Given the description of an element on the screen output the (x, y) to click on. 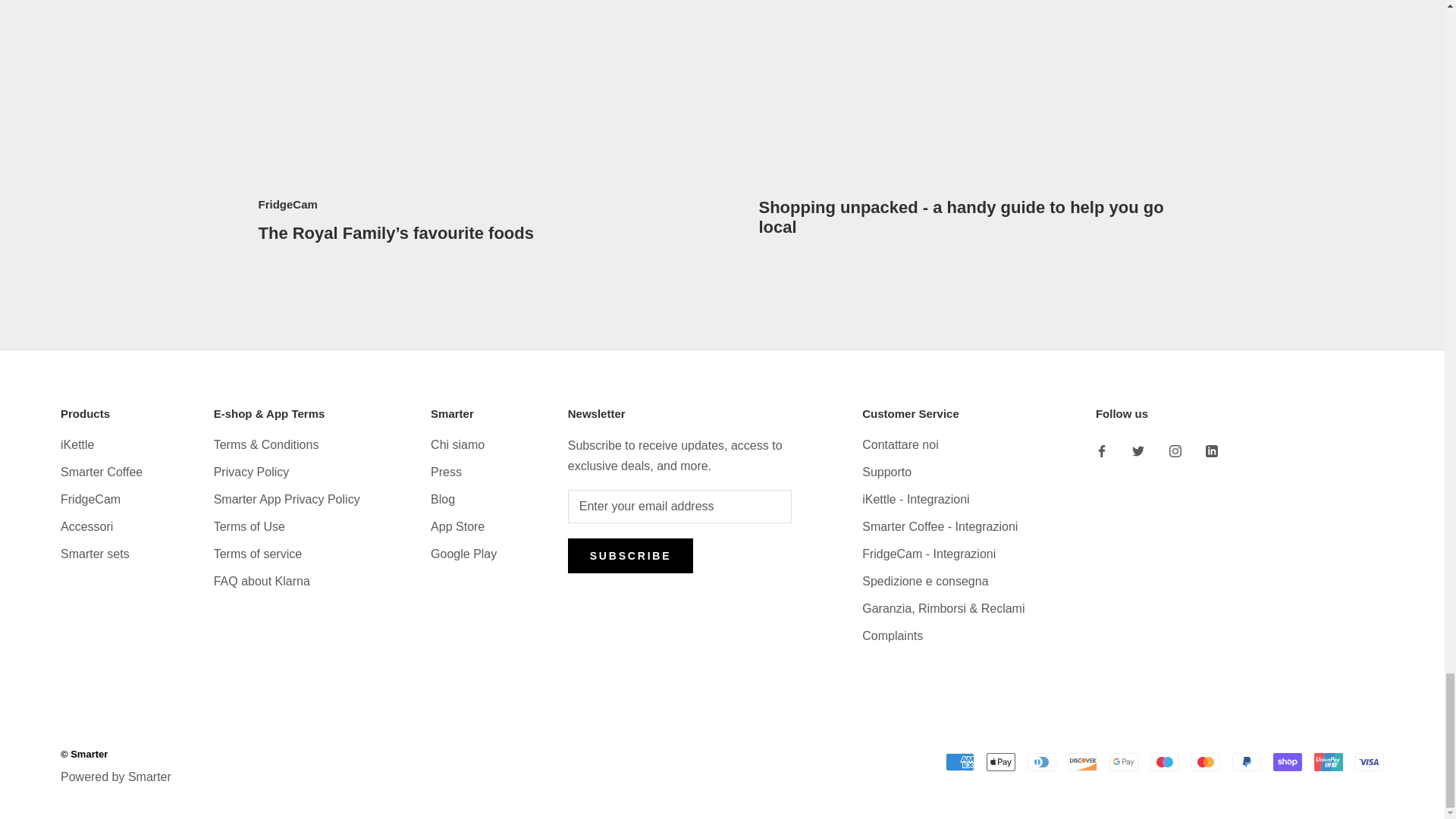
Diners Club (1042, 761)
Mastercard (1205, 761)
Visa (1369, 761)
Union Pay (1328, 761)
Google Pay (1123, 761)
Discover (1082, 761)
Maestro (1164, 761)
Apple Pay (1000, 761)
Shop Pay (1286, 761)
PayPal (1245, 761)
